Given the description of an element on the screen output the (x, y) to click on. 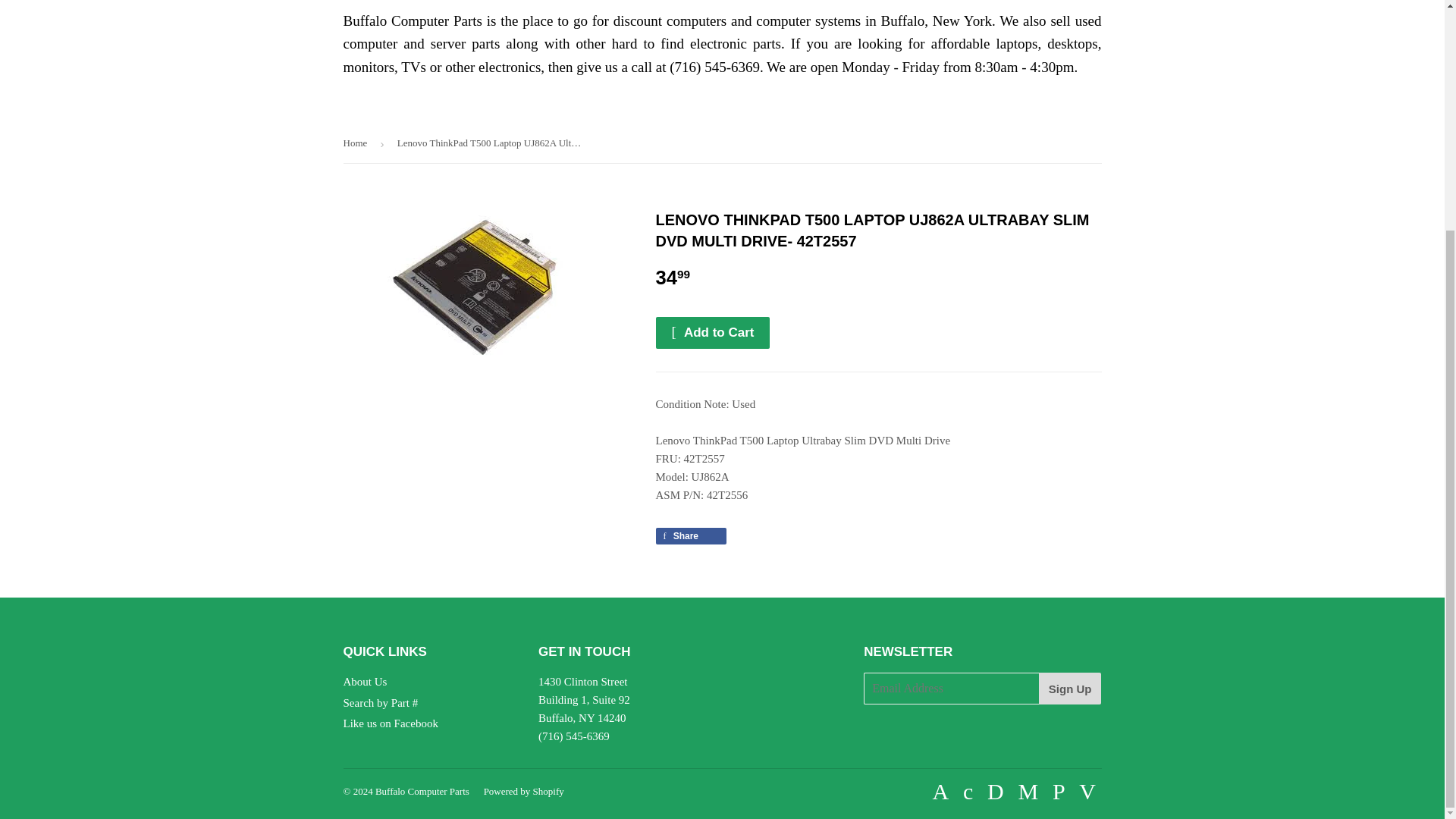
About Us (364, 681)
Sign Up (1070, 688)
Like us on Facebook (390, 723)
Home (357, 143)
Back to the frontpage (357, 143)
Share (690, 535)
Buffalo Computer Parts (421, 790)
Add to Cart (712, 332)
Powered by Shopify (523, 790)
